Given the description of an element on the screen output the (x, y) to click on. 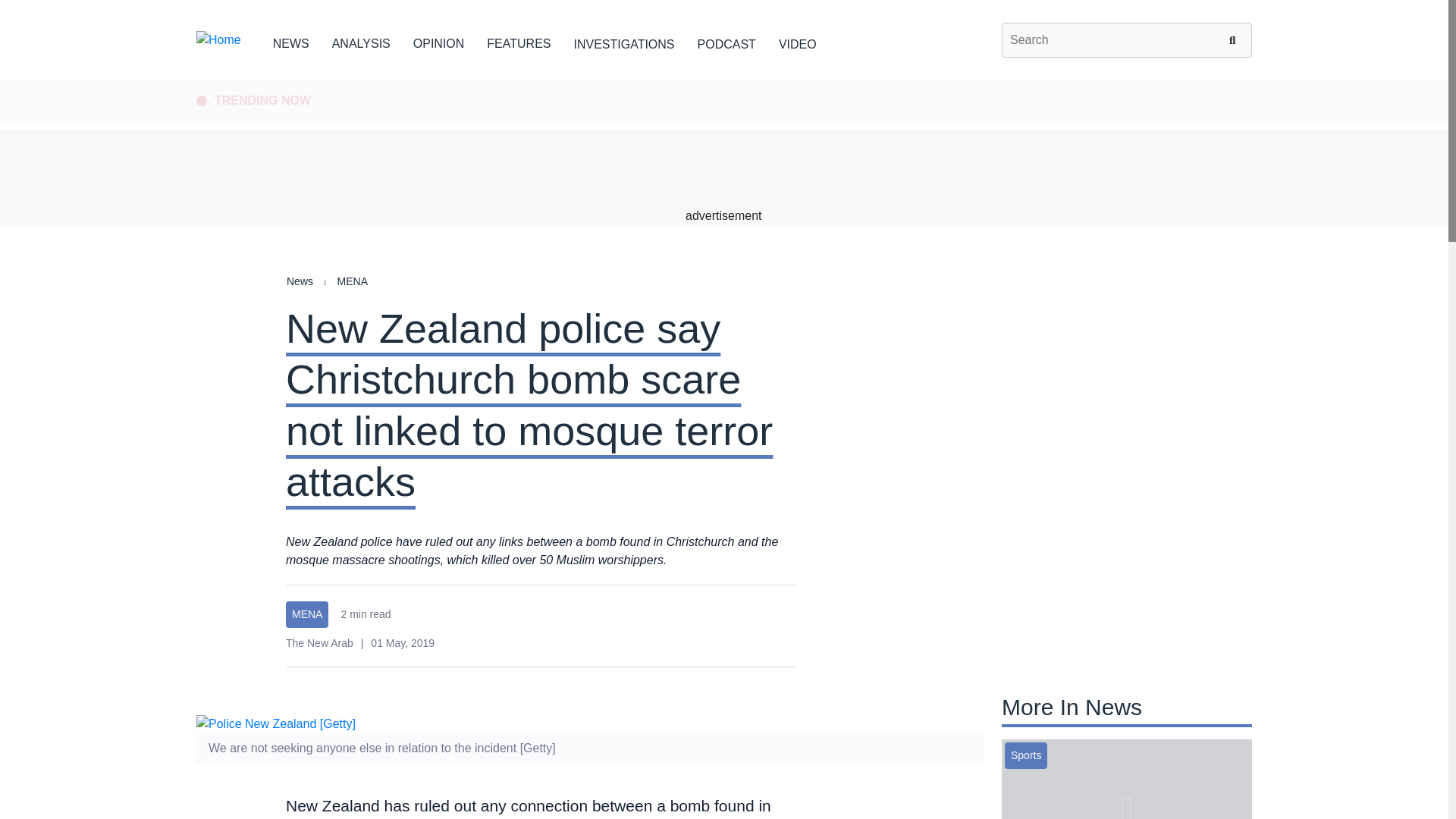
NEWS (291, 41)
Search (1234, 39)
OPINION (438, 41)
ANALYSIS (360, 41)
Skip to main content (724, 81)
